Given the description of an element on the screen output the (x, y) to click on. 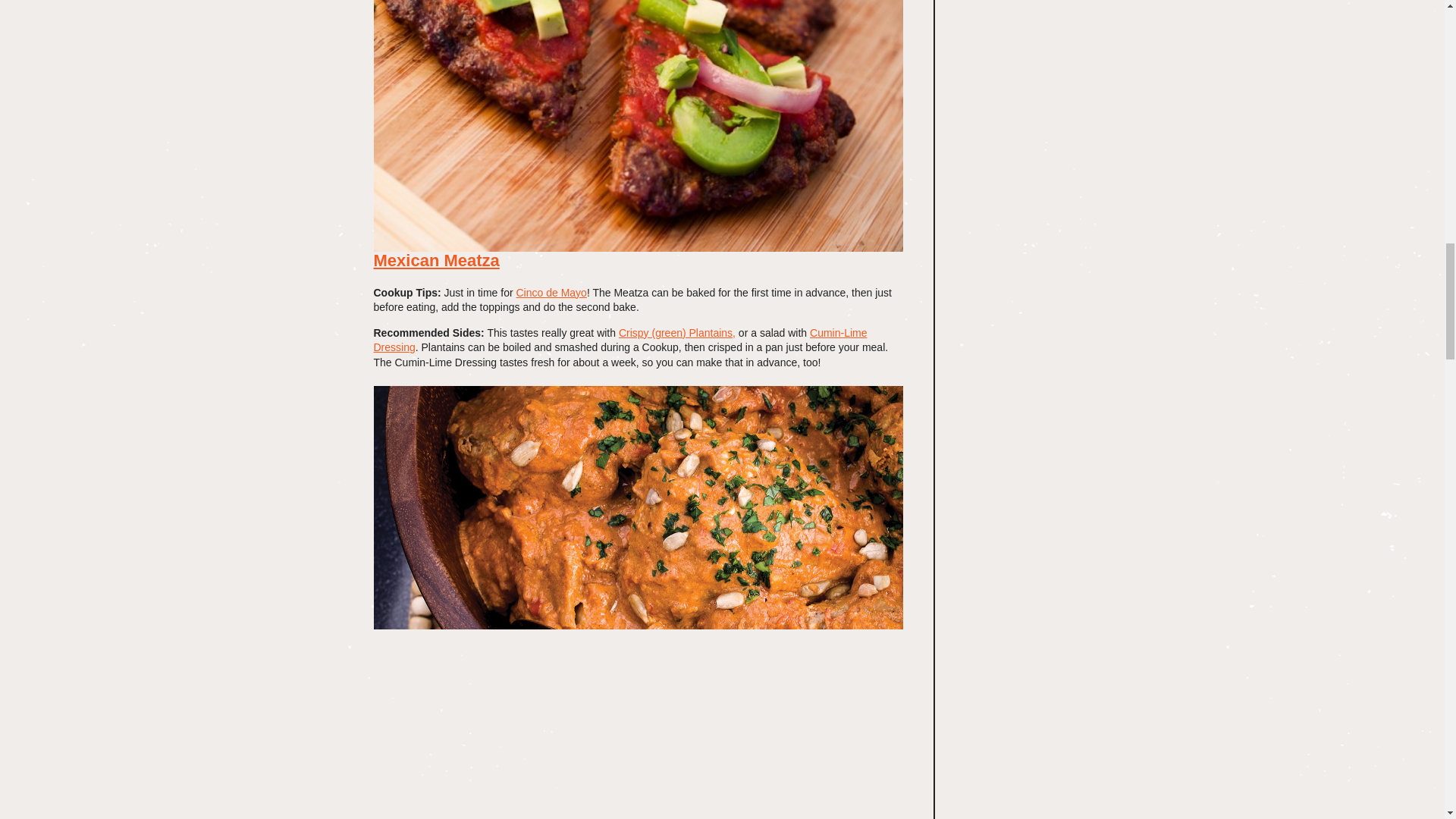
Cinco de Mayo (550, 292)
Mexican Meatza (435, 260)
